Given the description of an element on the screen output the (x, y) to click on. 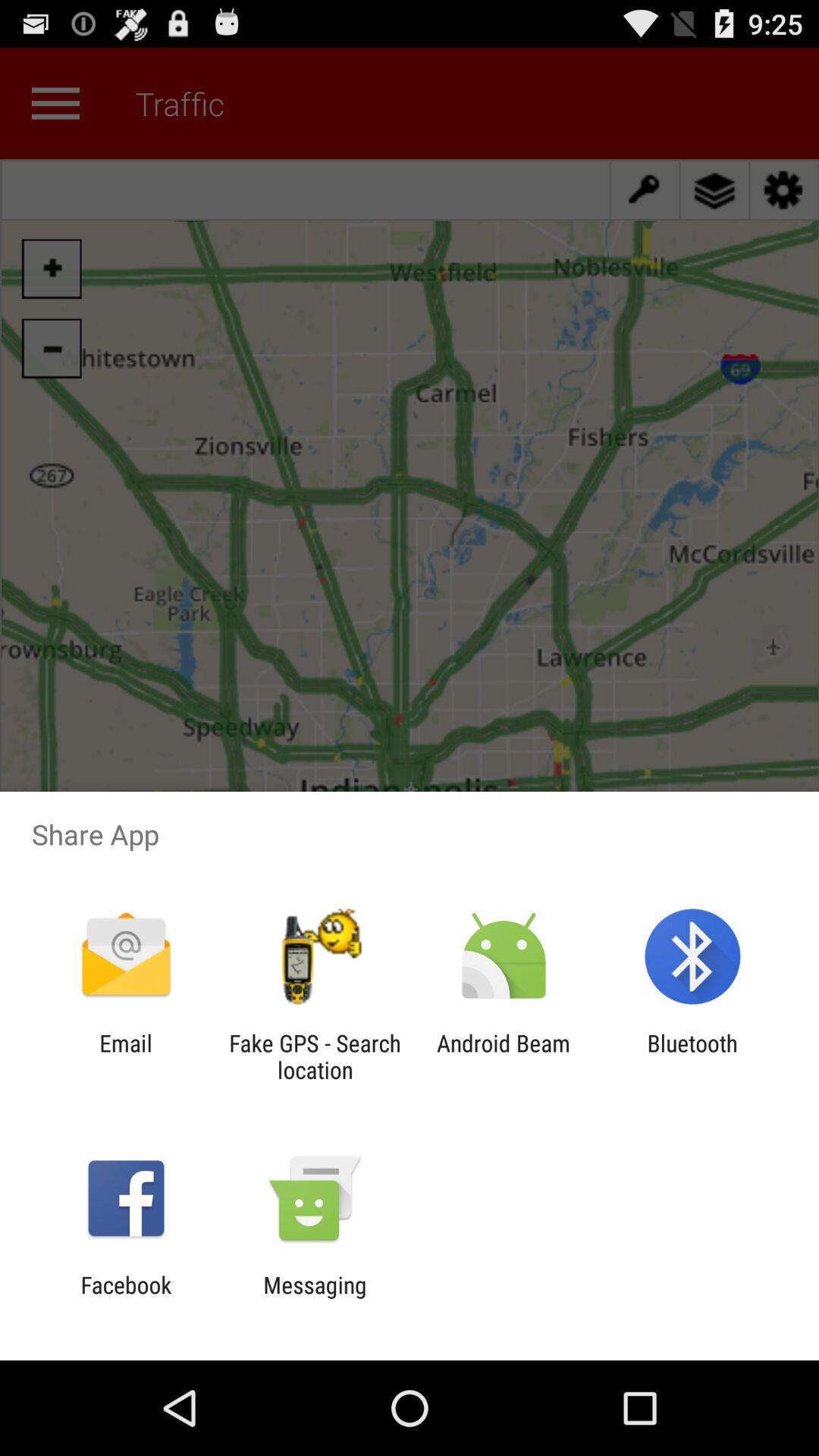
jump until the bluetooth item (692, 1056)
